Given the description of an element on the screen output the (x, y) to click on. 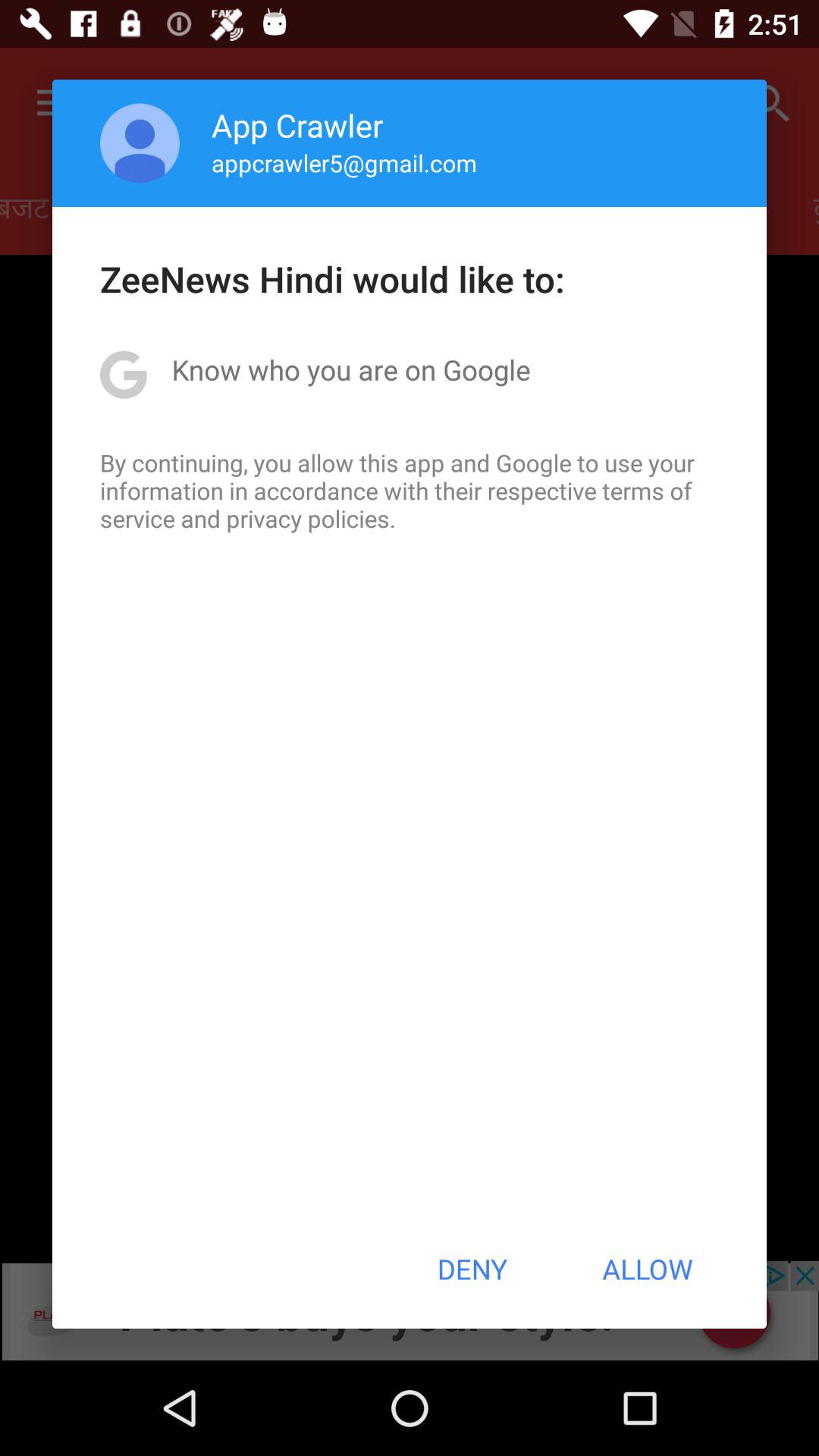
select the item to the left of app crawler app (139, 143)
